Given the description of an element on the screen output the (x, y) to click on. 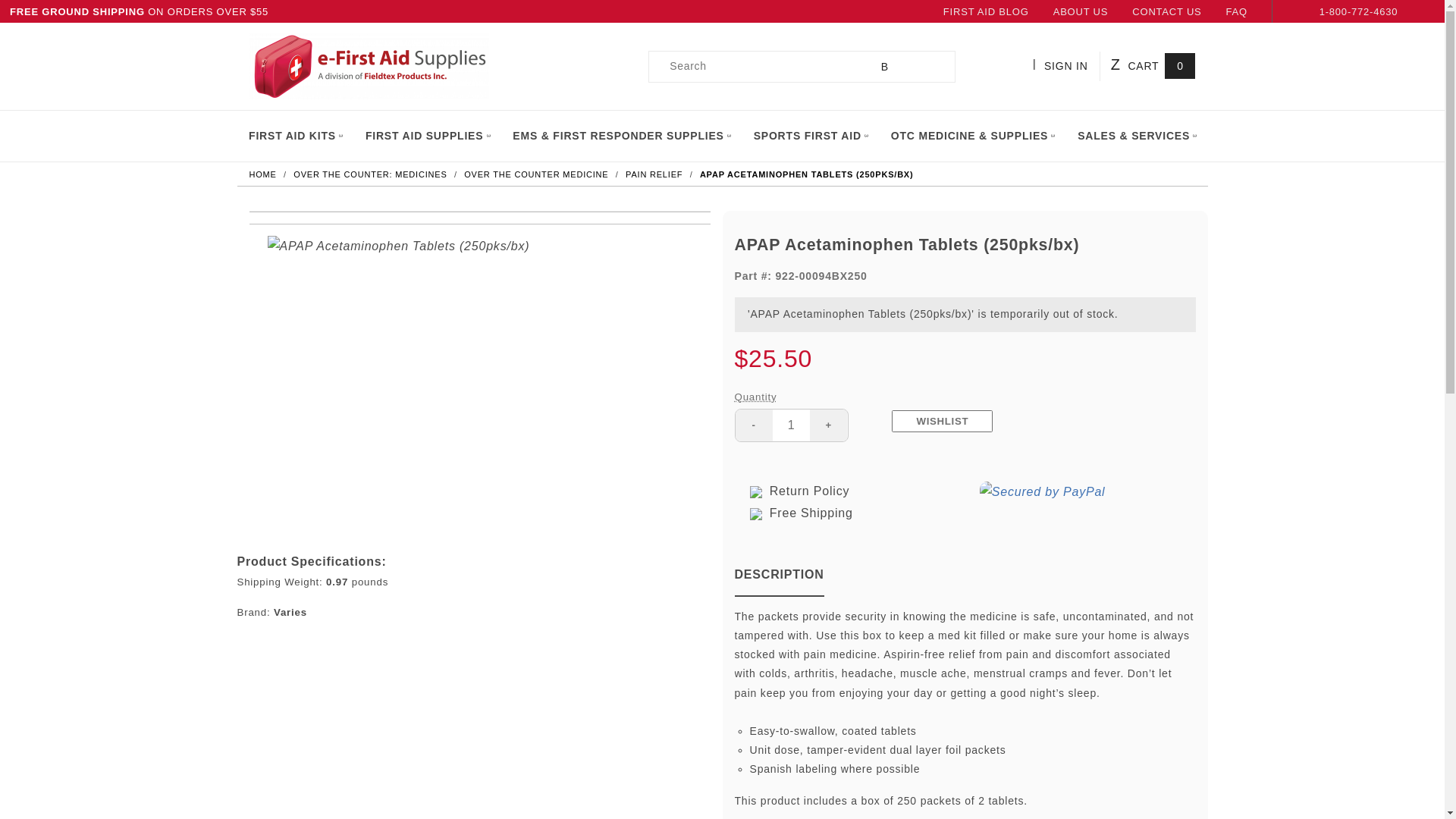
ABOUT US (1080, 11)
FIRST AID BLOG (986, 11)
E-FirstaidSupplies (367, 64)
Quantity (791, 425)
How PayPal Works (1045, 490)
Over the Counter: Medicines (371, 174)
Decrement (754, 425)
Over the Counter Medicine (537, 174)
FIRST AID KITS (294, 135)
Home (263, 174)
